Given the description of an element on the screen output the (x, y) to click on. 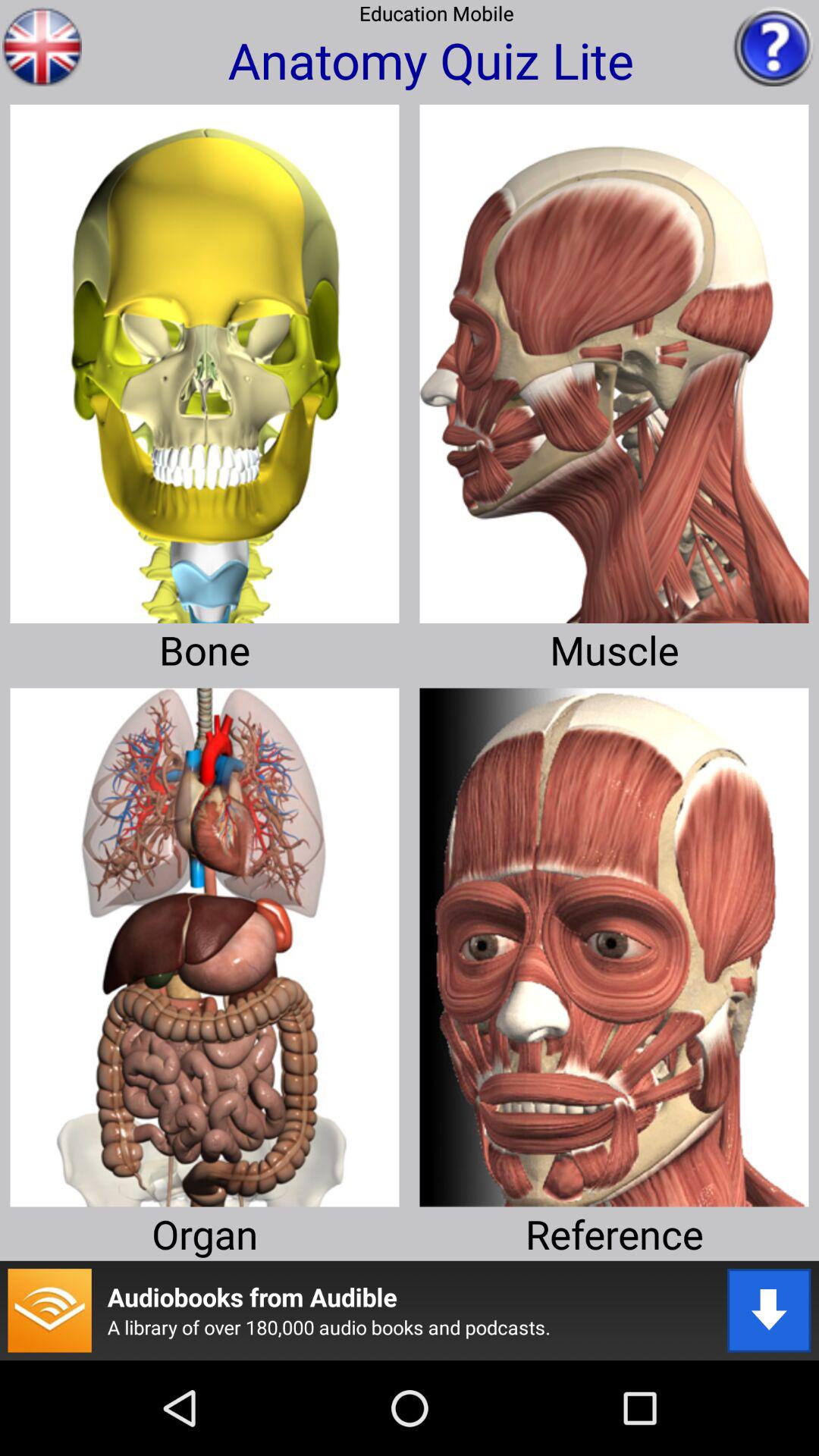
open muscle (613, 358)
